Given the description of an element on the screen output the (x, y) to click on. 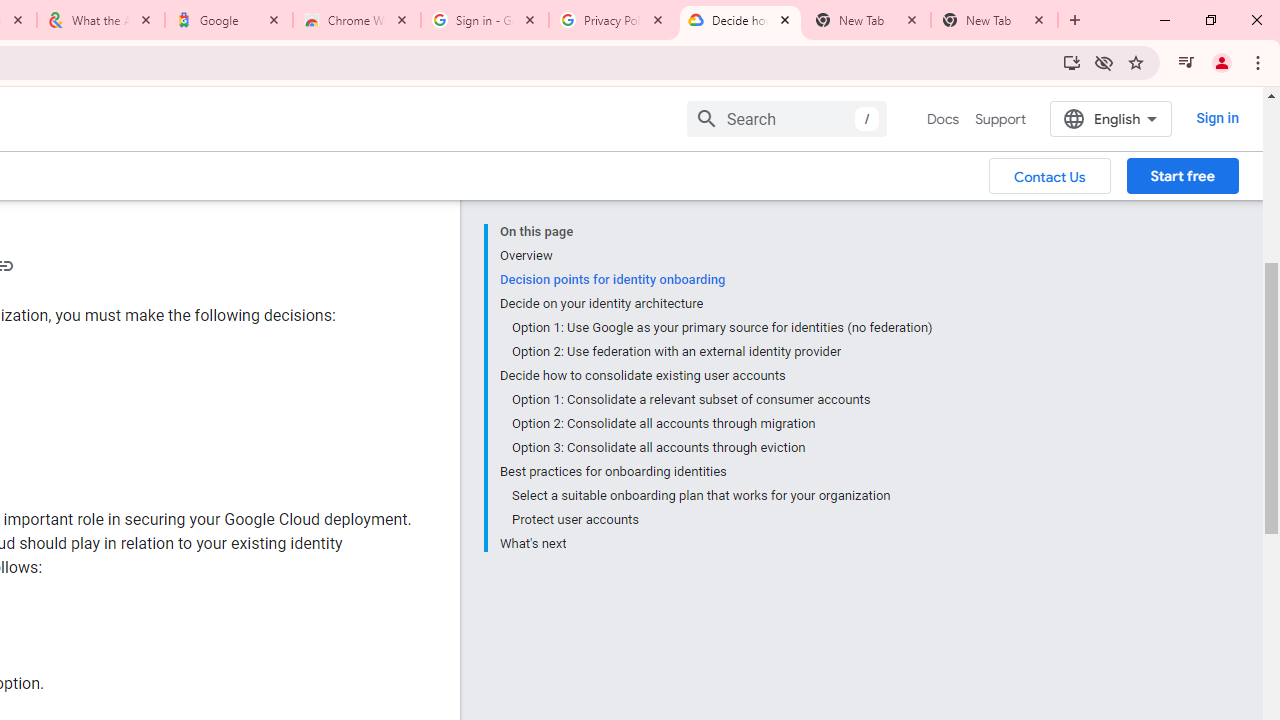
Protect user accounts (721, 520)
What's next (716, 542)
Best practices for onboarding identities (716, 471)
Sign in - Google Accounts (485, 20)
Contact Us (1050, 175)
